Given the description of an element on the screen output the (x, y) to click on. 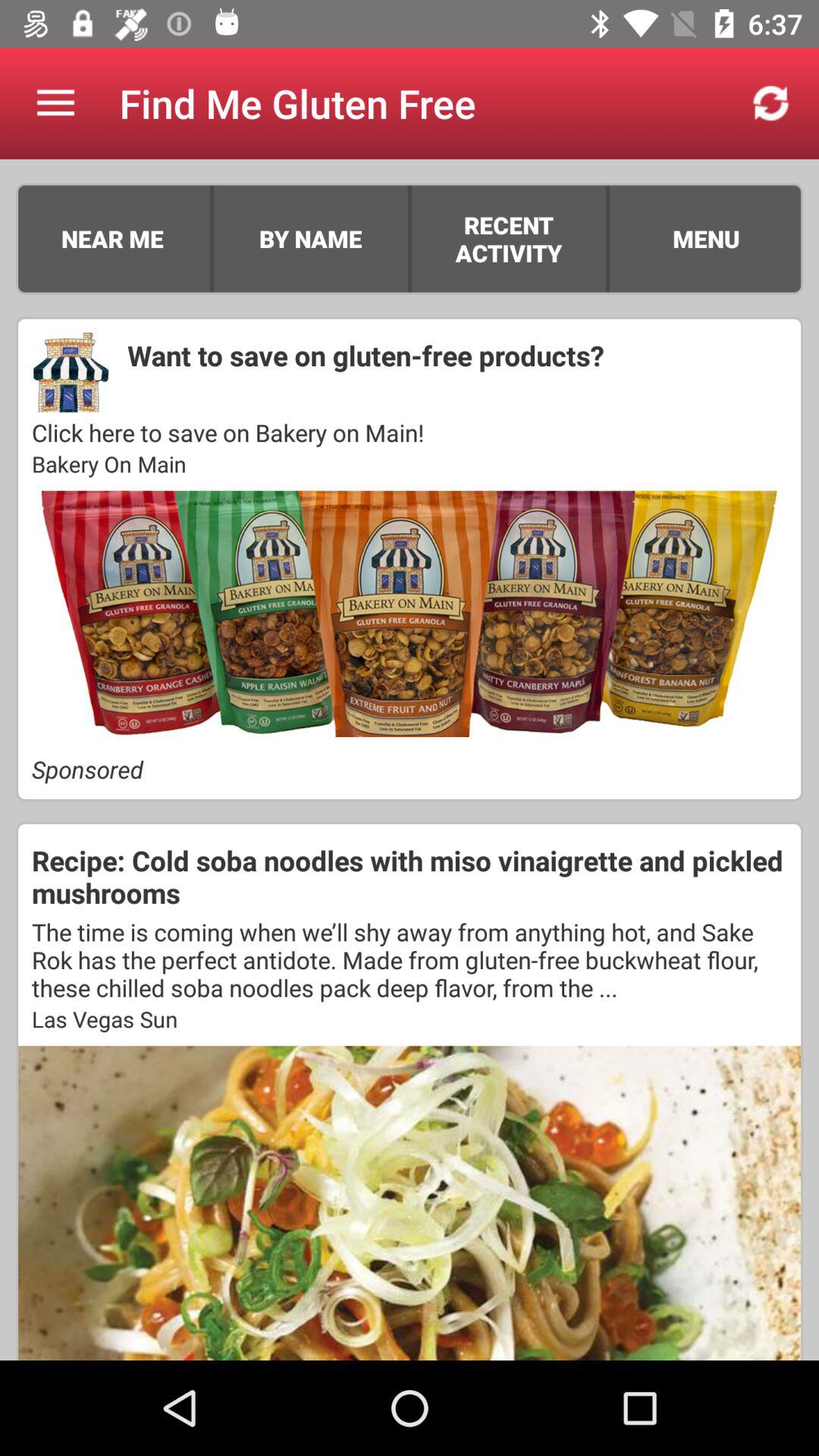
launch the icon to the left of find me gluten (55, 103)
